Given the description of an element on the screen output the (x, y) to click on. 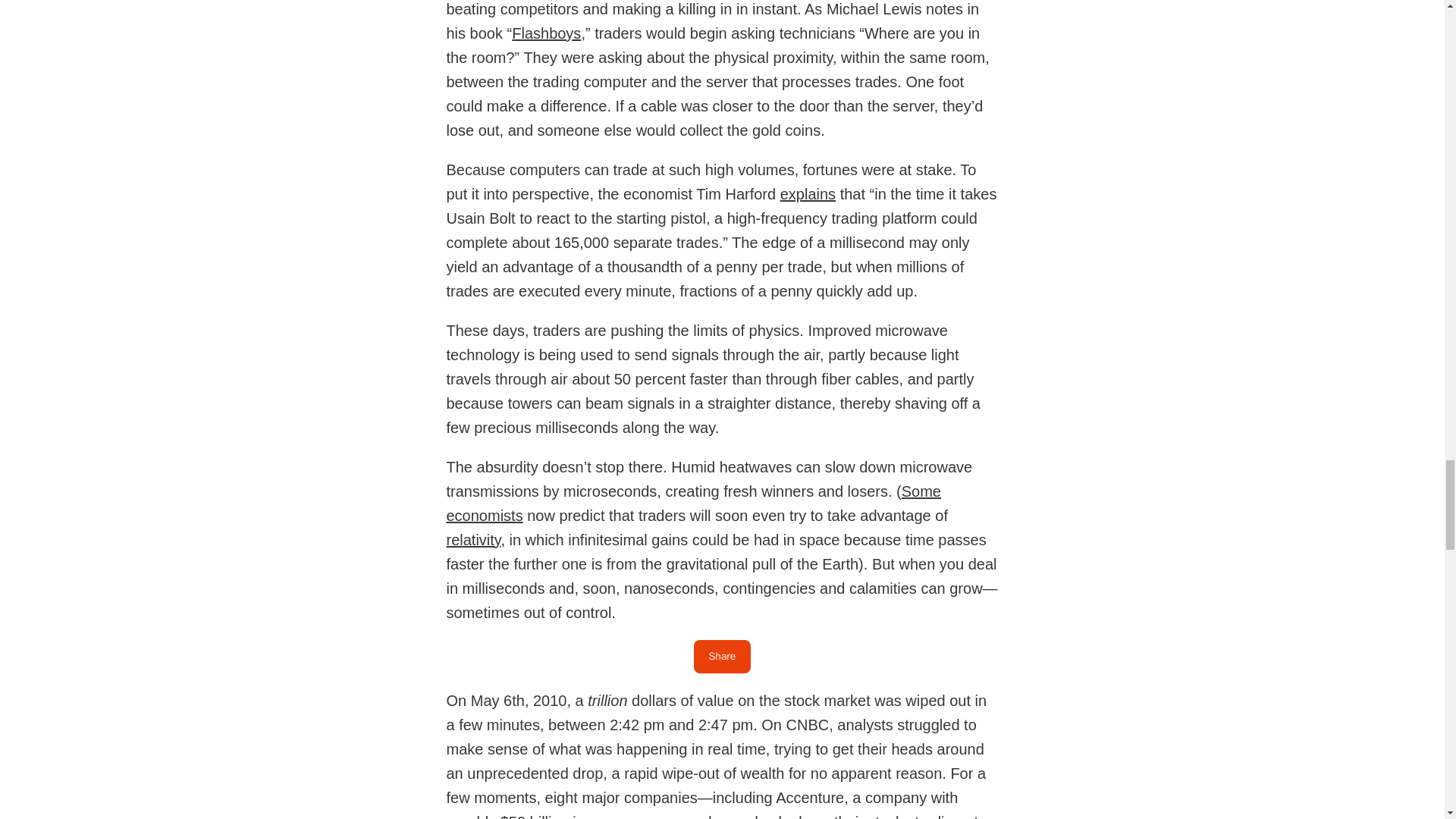
Share (722, 656)
Some economists (692, 502)
relativity (472, 538)
explains (807, 193)
Flashboys (546, 32)
